Given the description of an element on the screen output the (x, y) to click on. 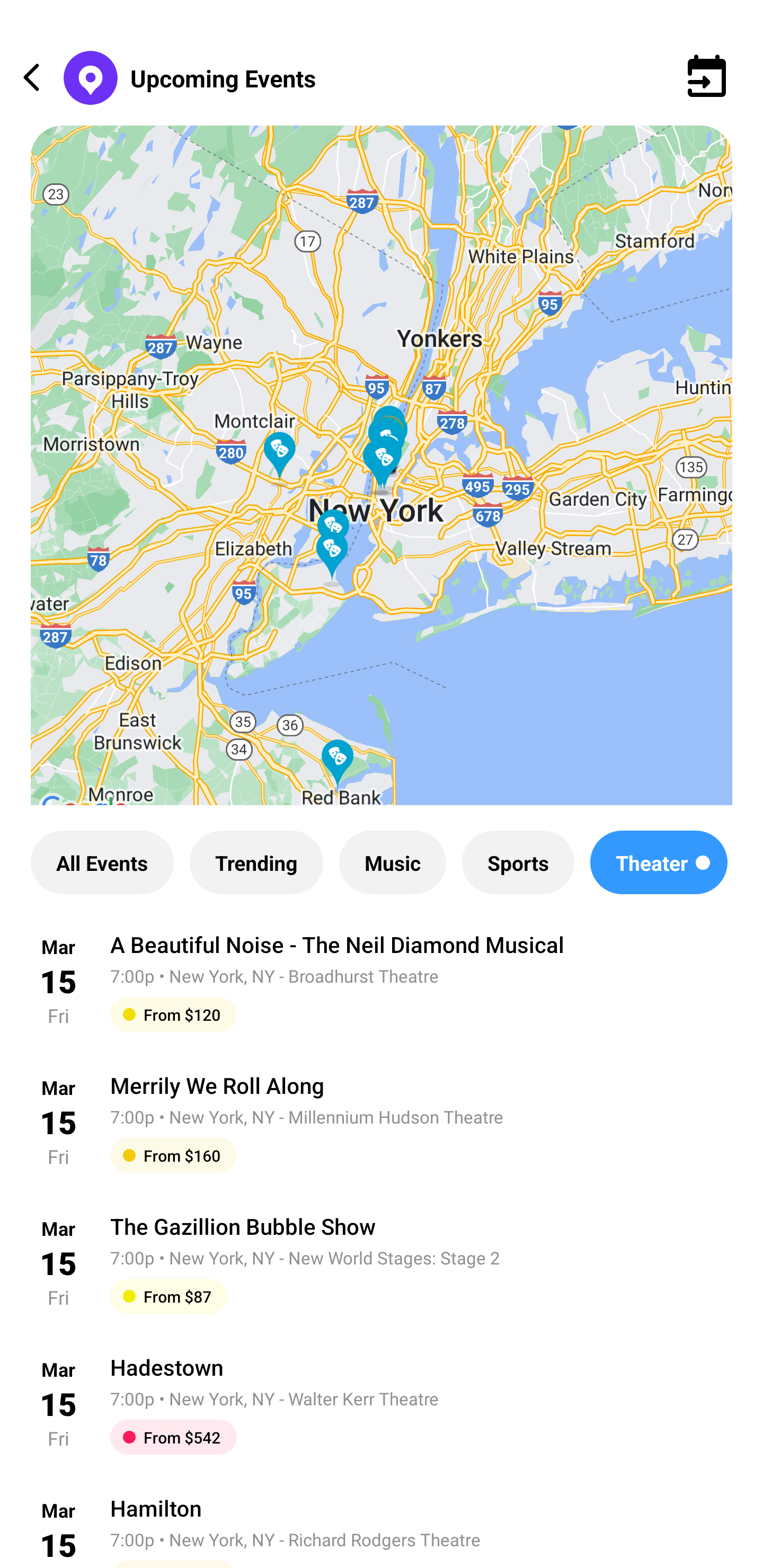
All Events (101, 862)
Trending (256, 862)
Music (392, 862)
Sports (518, 862)
Theater (658, 862)
